Given the description of an element on the screen output the (x, y) to click on. 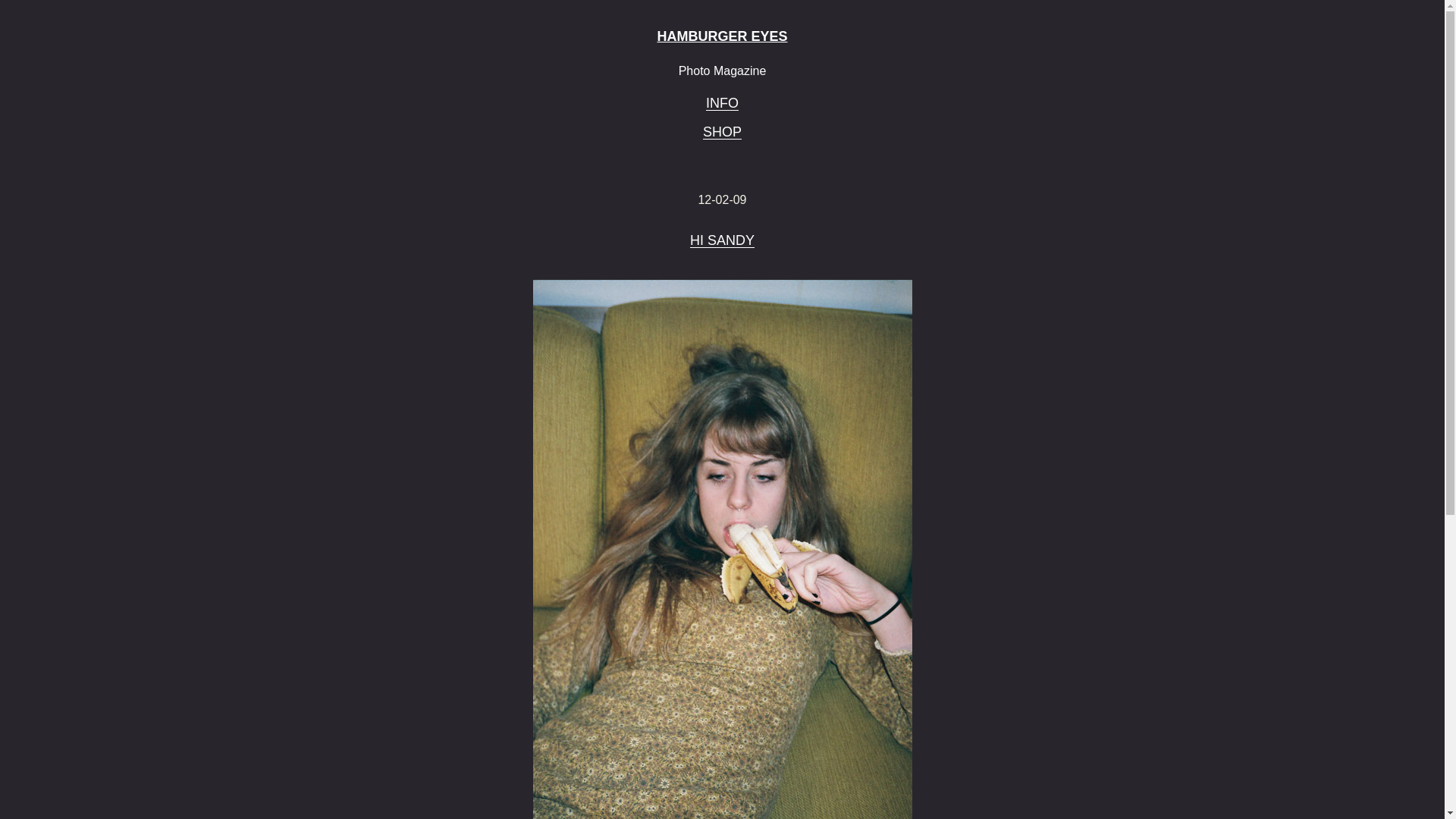
INFO (722, 102)
HAMBURGER EYES (721, 36)
HI SANDY (722, 240)
SHOP (722, 131)
